Given the description of an element on the screen output the (x, y) to click on. 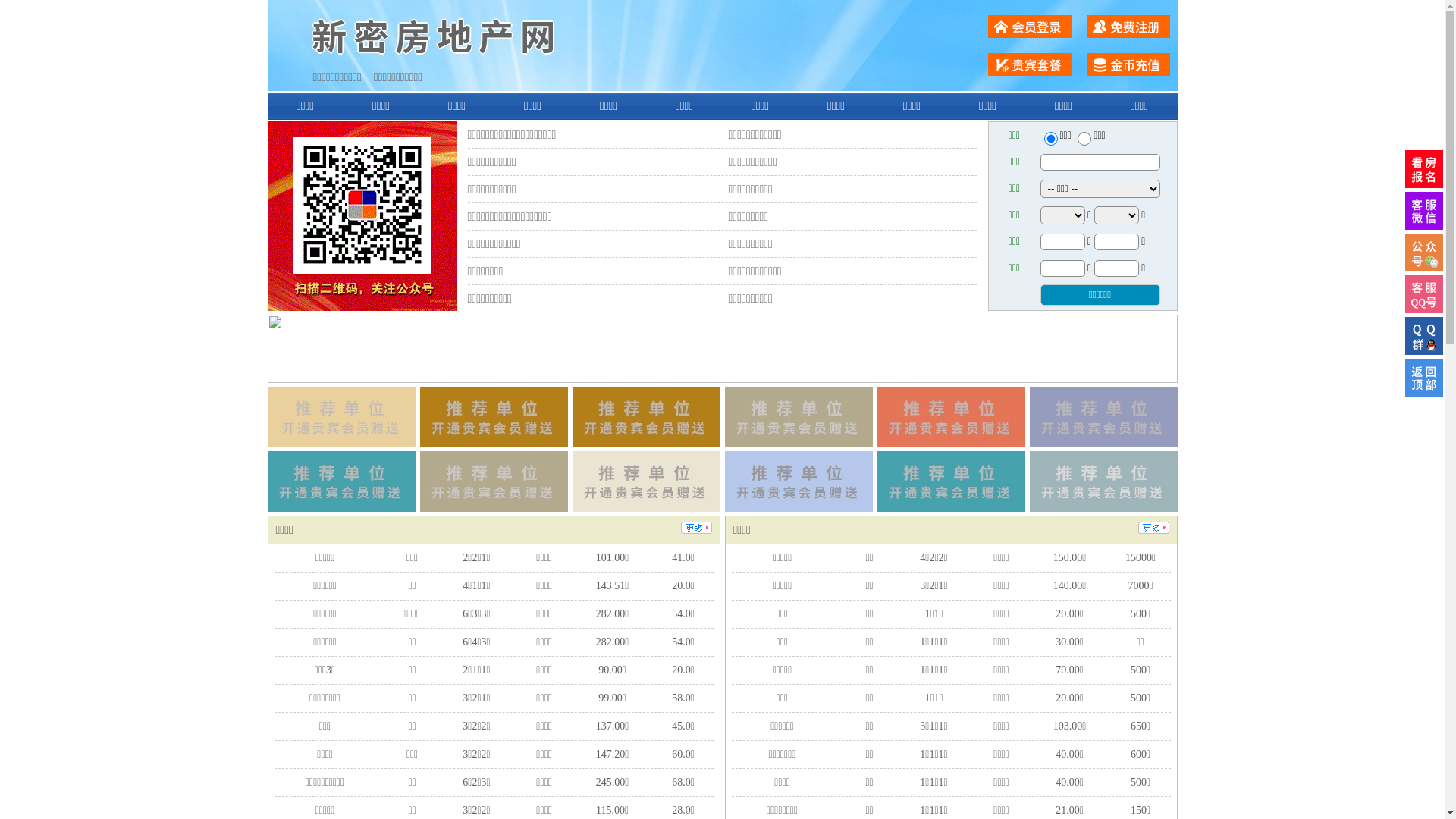
chuzu Element type: text (1084, 138)
ershou Element type: text (1050, 138)
